Given the description of an element on the screen output the (x, y) to click on. 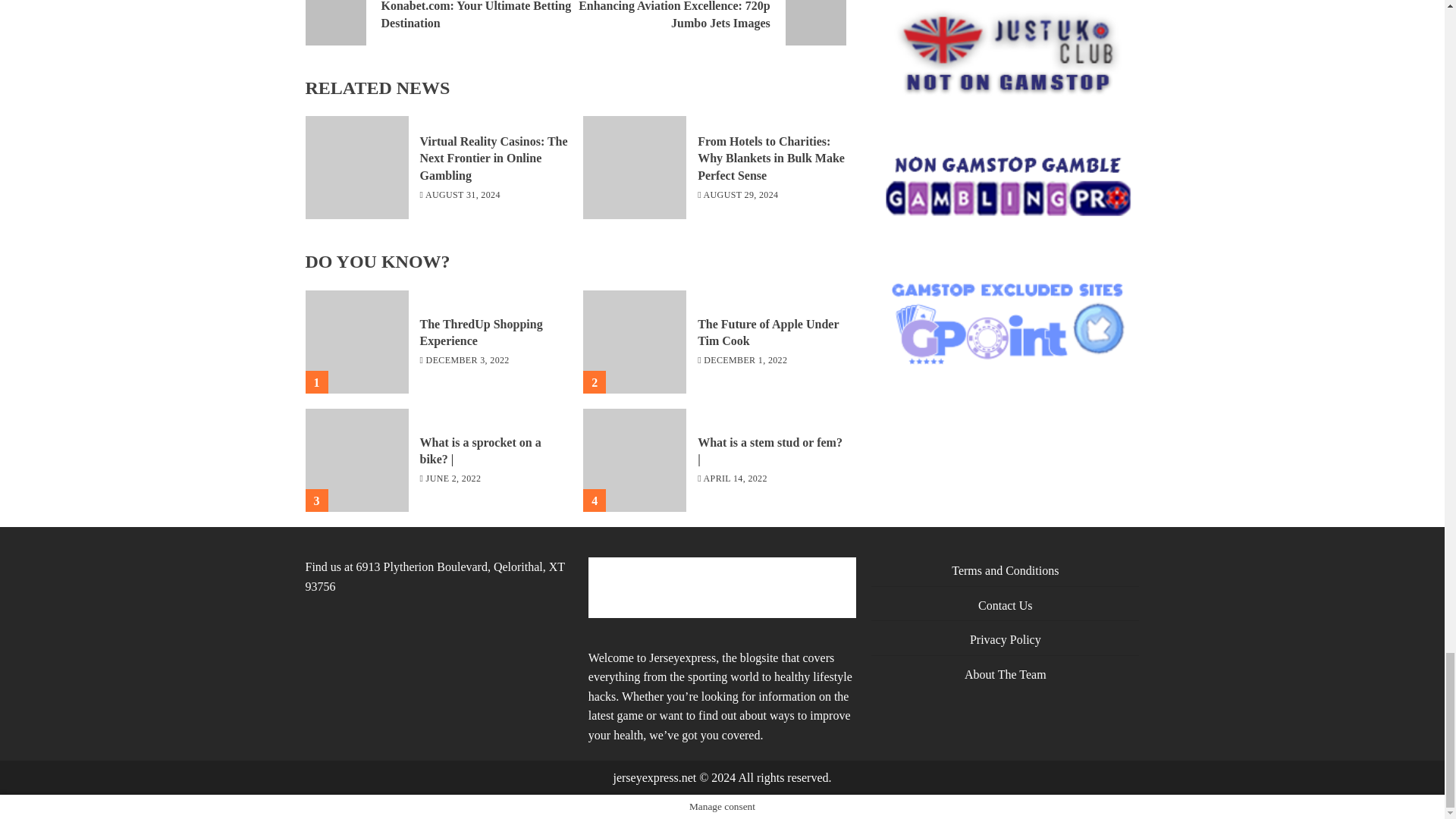
The Future of Apple Under Tim Cook (767, 332)
The ThredUp Shopping Experience (710, 22)
The ThredUp Shopping Experience (355, 341)
The Future of Apple Under Tim Cook (439, 22)
